Given the description of an element on the screen output the (x, y) to click on. 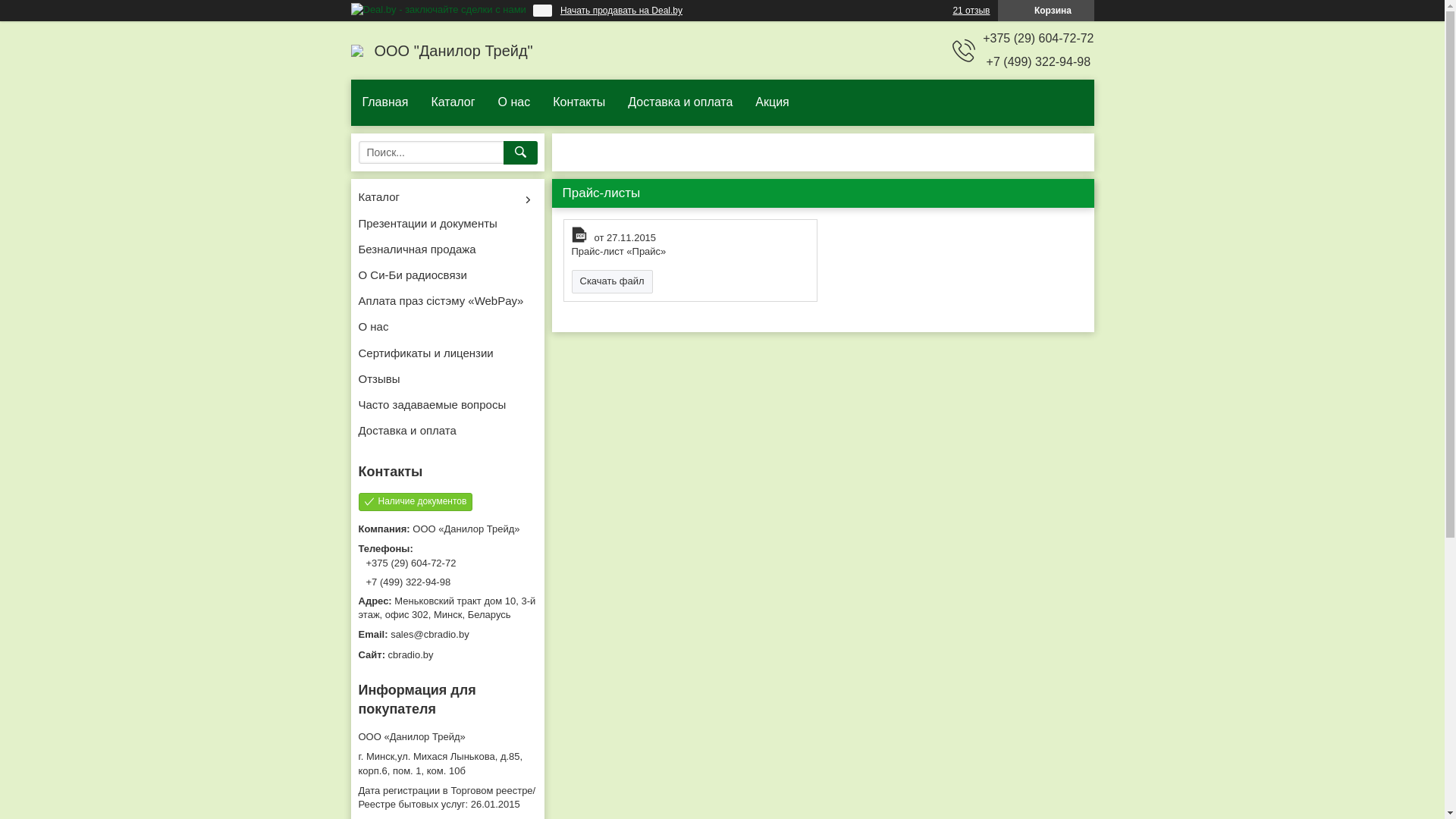
sales@cbradio.by Element type: text (446, 634)
cbradio.by Element type: text (446, 655)
